Given the description of an element on the screen output the (x, y) to click on. 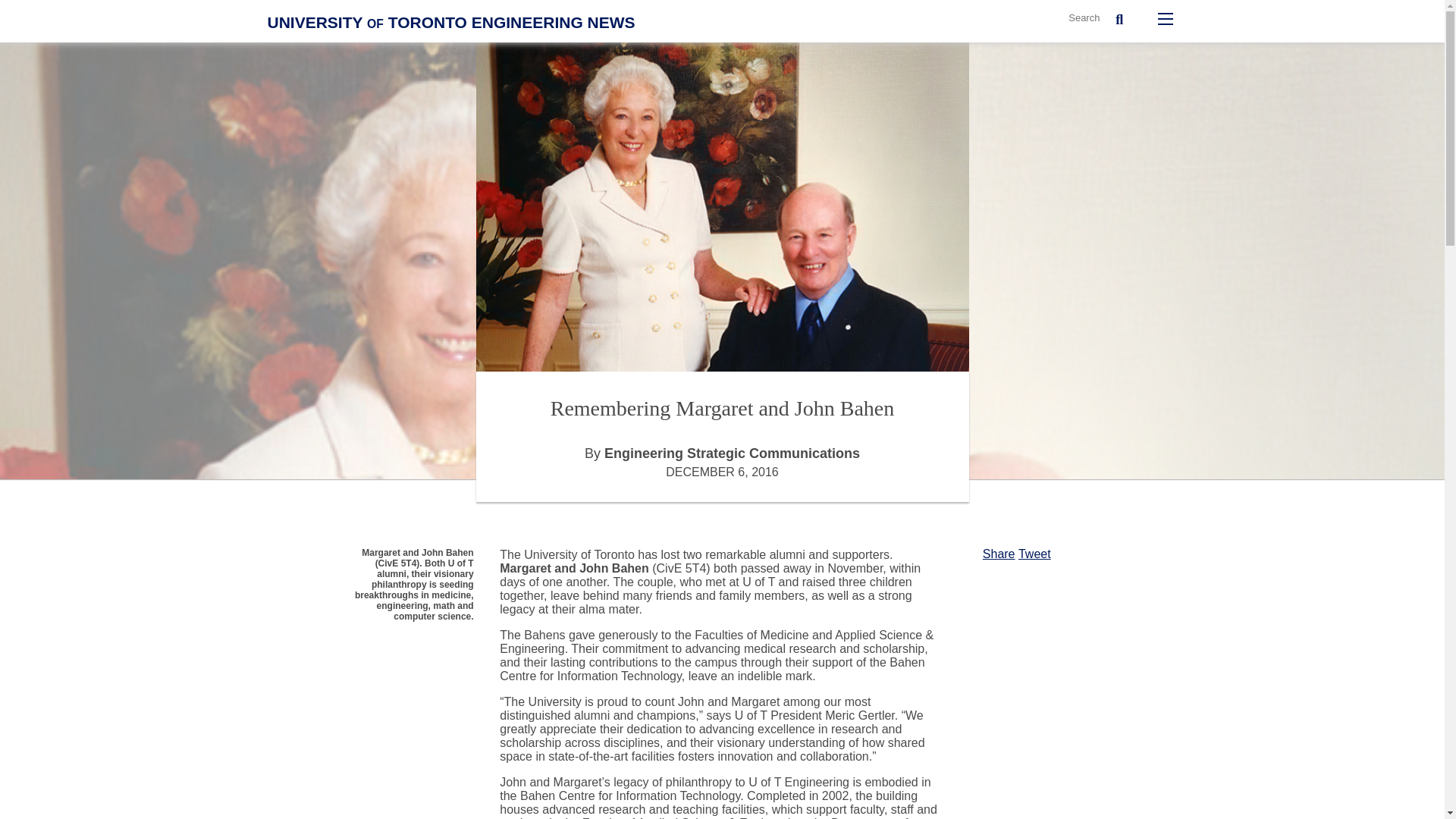
Menu (1165, 18)
Share (998, 553)
Tweet (1034, 553)
UNIVERSITY OF TORONTO ENGINEERING NEWS (450, 22)
